Given the description of an element on the screen output the (x, y) to click on. 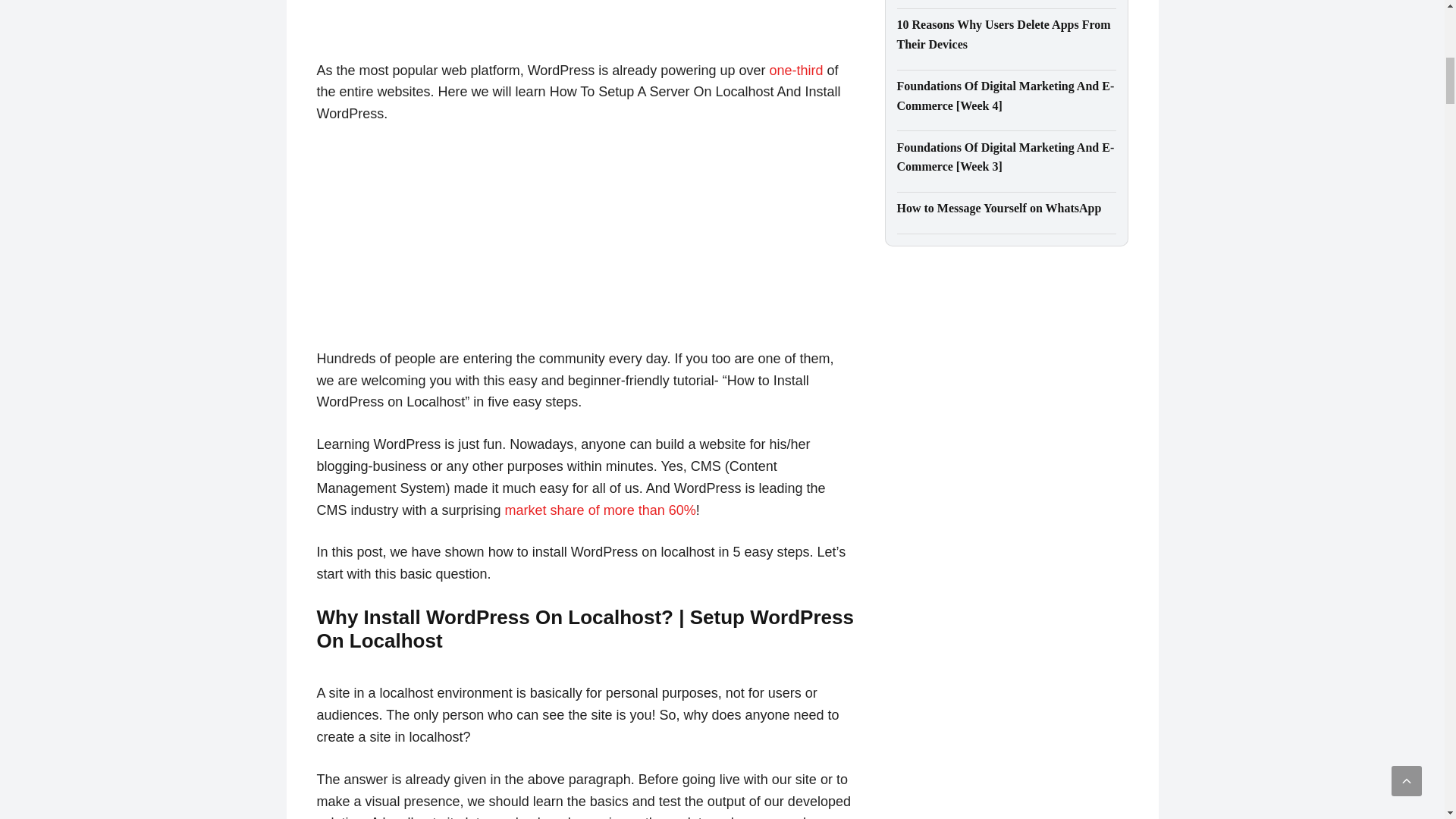
one-third (795, 70)
